Given the description of an element on the screen output the (x, y) to click on. 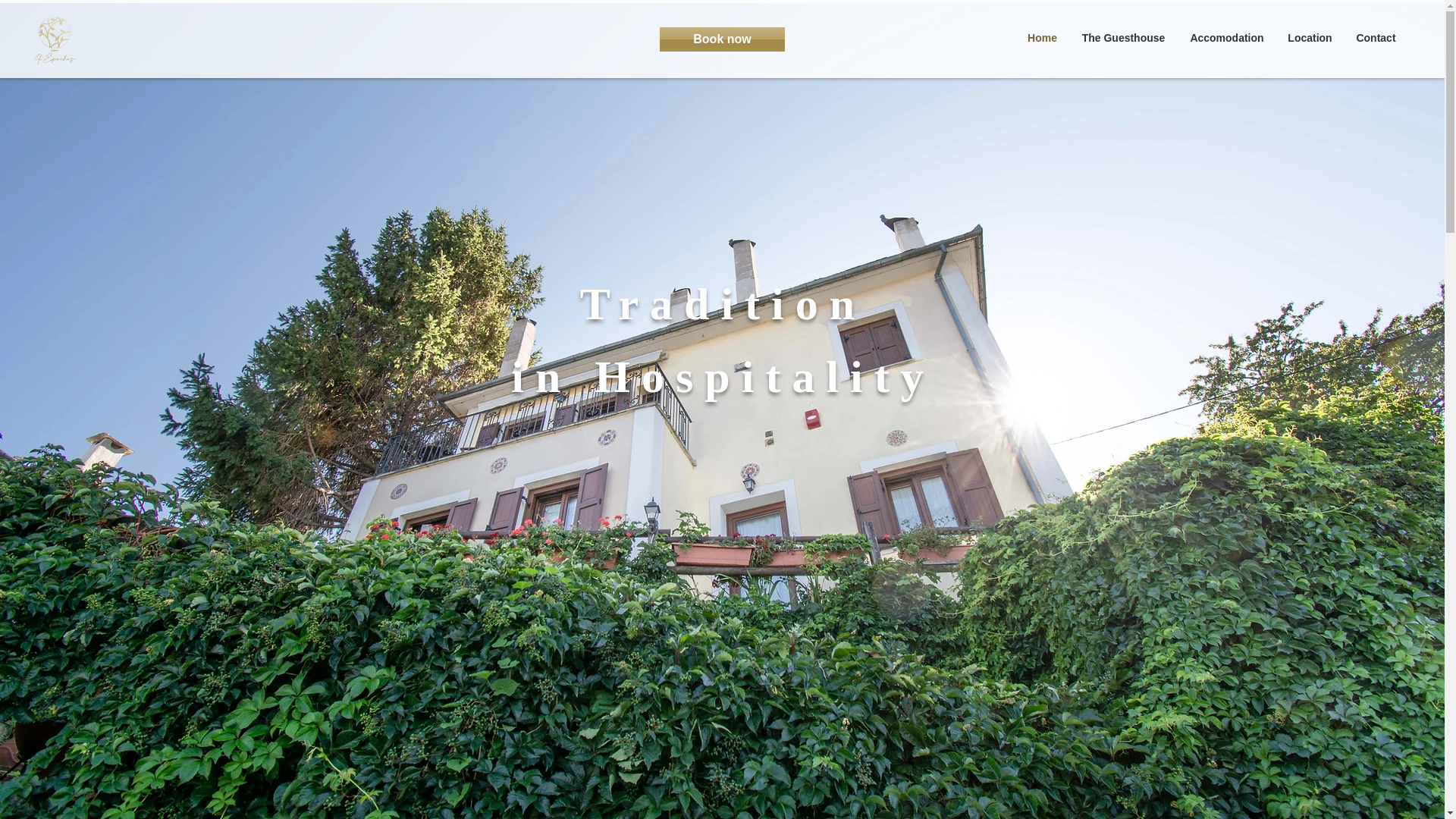
Book now (721, 39)
Contact (1375, 37)
The Guesthouse (1122, 37)
Accomodation (1226, 37)
Home (1041, 37)
Location (1309, 37)
